Given the description of an element on the screen output the (x, y) to click on. 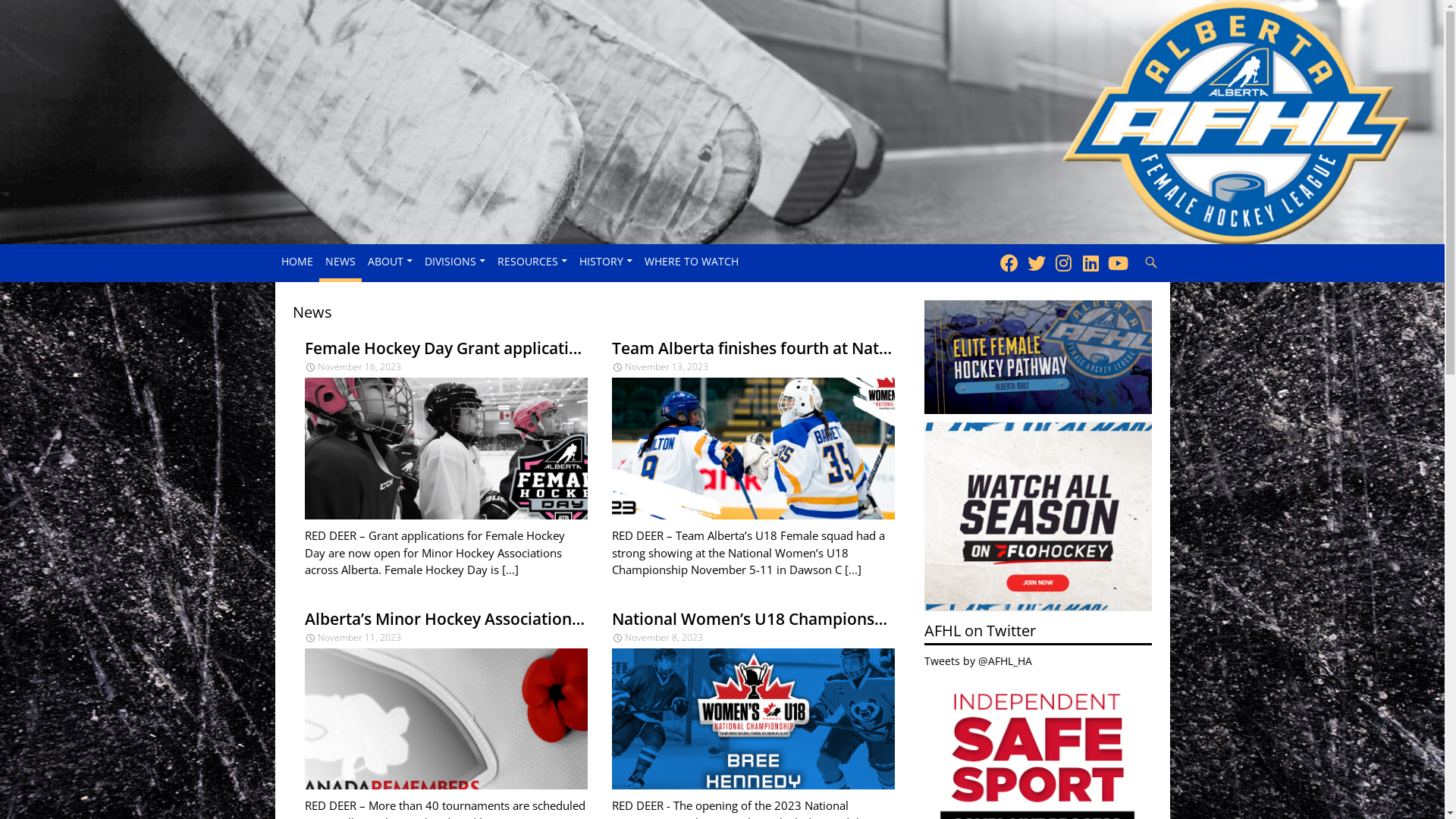
WHERE TO WATCH Element type: text (691, 261)
RESOURCES Element type: text (532, 261)
Female Hockey Day Grant applications now open Element type: text (445, 348)
NEWS Element type: text (339, 261)
ABOUT Element type: text (388, 261)
DIVISIONS Element type: text (454, 261)
November 13, 2023 Element type: text (659, 366)
YouTube Element type: hover (1117, 262)
HISTORY Element type: text (605, 261)
Search Element type: text (1134, 243)
November 11, 2023 Element type: text (352, 636)
Twitter Element type: hover (1035, 262)
Tweets by @AFHL_HA Element type: text (978, 660)
Instagram Element type: hover (1063, 262)
HOME Element type: text (296, 261)
November 16, 2023 Element type: text (352, 366)
Facebook Element type: hover (1008, 262)
LinkedIn Element type: hover (1090, 262)
November 8, 2023 Element type: text (656, 636)
Hockey Alberta announces exclusive partnership with Hudl Element type: hover (1037, 516)
